Given the description of an element on the screen output the (x, y) to click on. 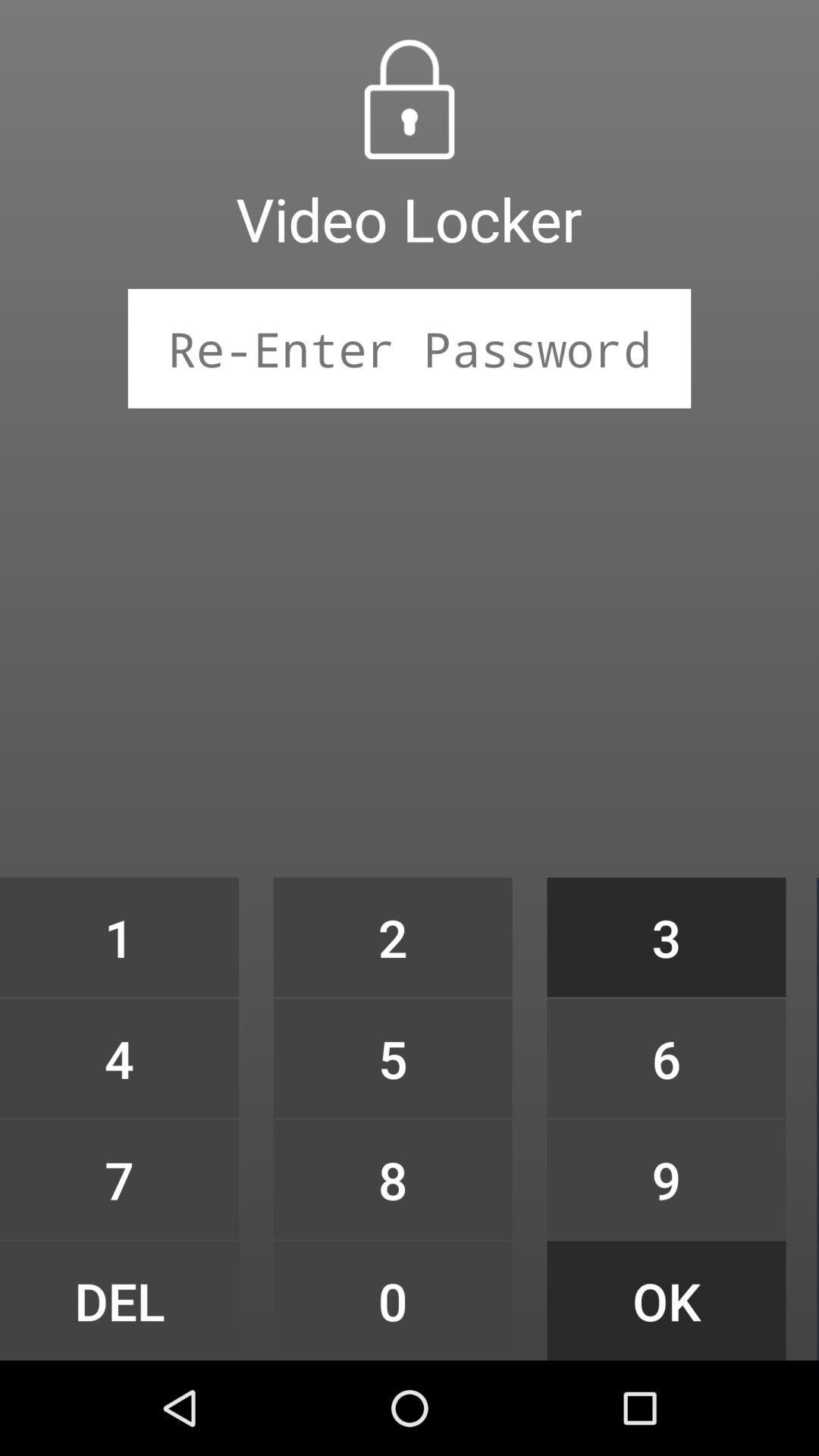
press the 5 (392, 1058)
